Given the description of an element on the screen output the (x, y) to click on. 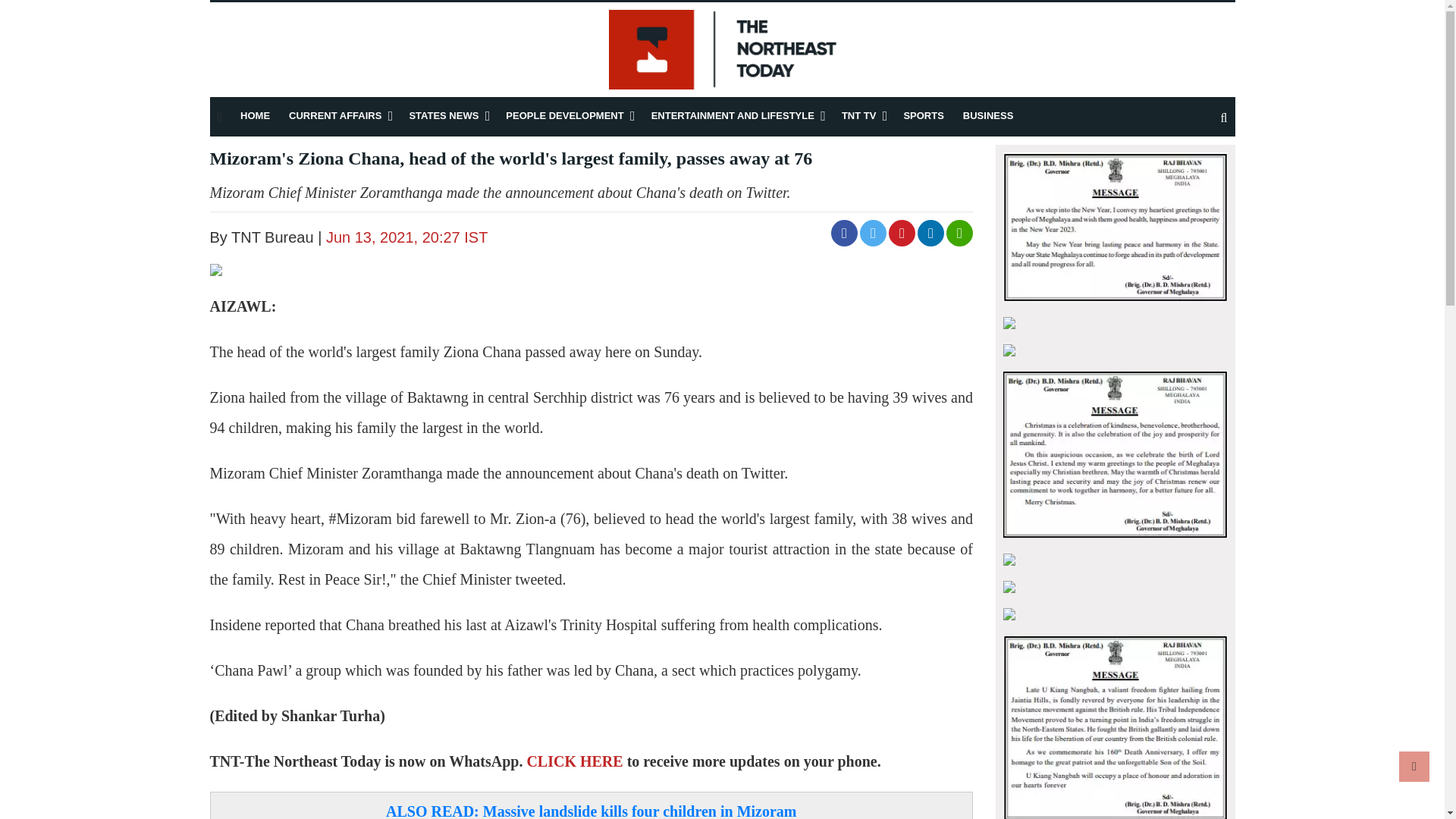
BUSINESS (987, 115)
STATES NEWS (444, 115)
HOME (254, 115)
CURRENT AFFAIRS (334, 115)
TNT TV (858, 115)
ENTERTAINMENT AND LIFESTYLE (731, 115)
PEOPLE DEVELOPMENT (564, 115)
SPORTS (922, 115)
